Given the description of an element on the screen output the (x, y) to click on. 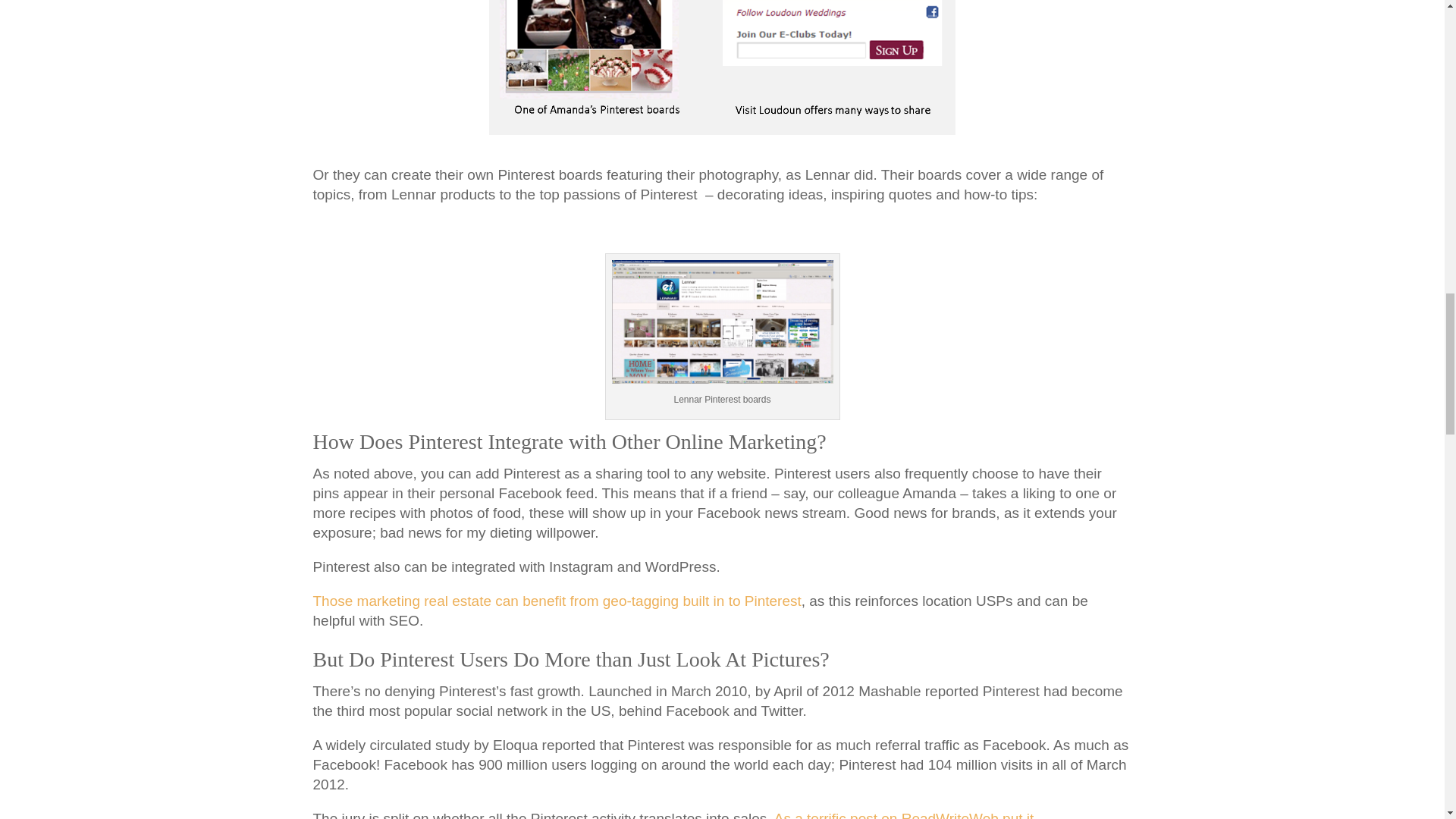
Pinterest-Examples (722, 67)
As a terrific post on ReadWriteWeb put it (903, 814)
Lennar-Pinterest-Boards (721, 322)
